Given the description of an element on the screen output the (x, y) to click on. 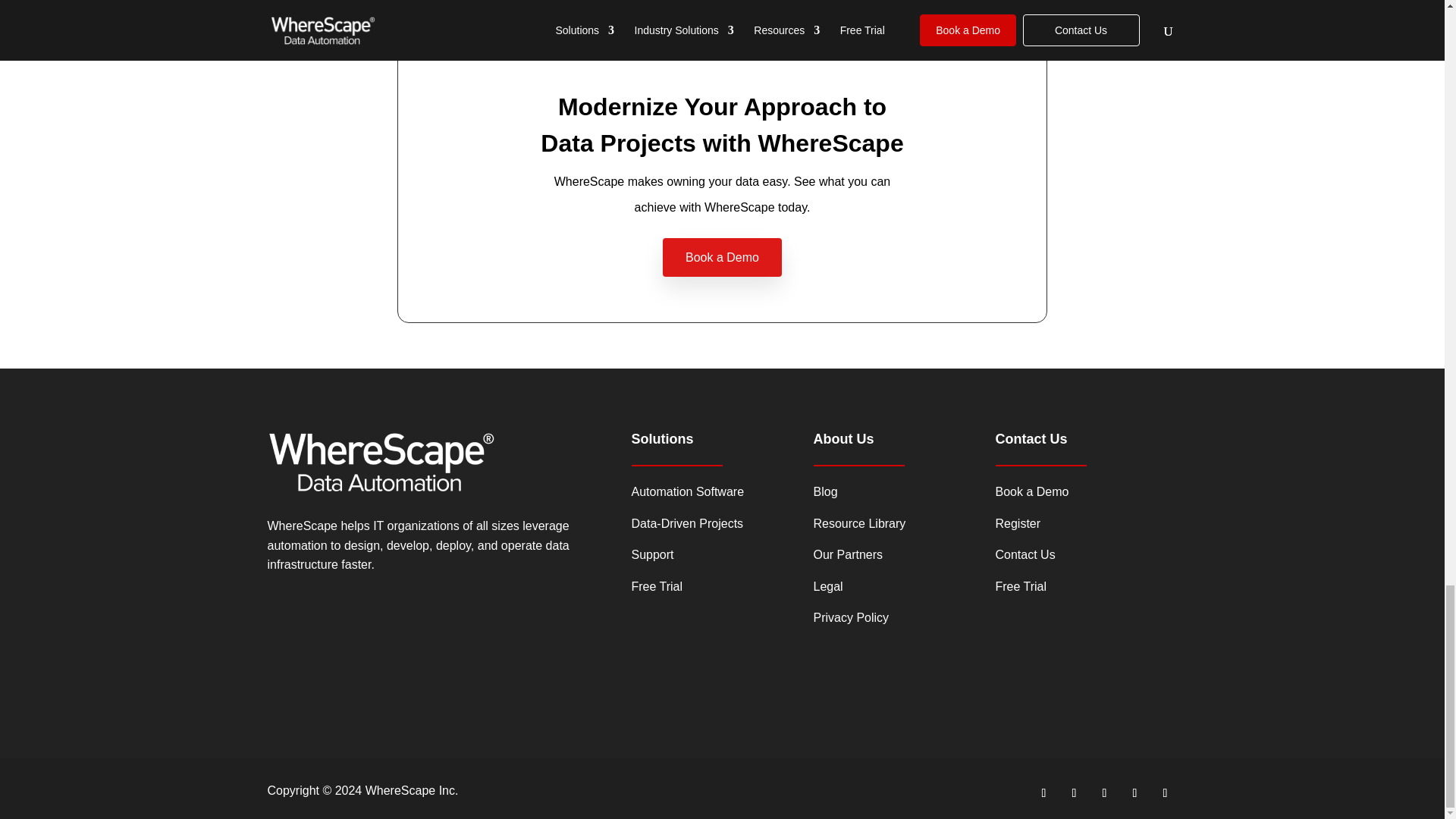
Follow on LinkedIn (1104, 793)
Write a review of WhereScape RED on G2 (342, 695)
Follow on X (1042, 793)
Follow on Vimeo (1073, 793)
